Given the description of an element on the screen output the (x, y) to click on. 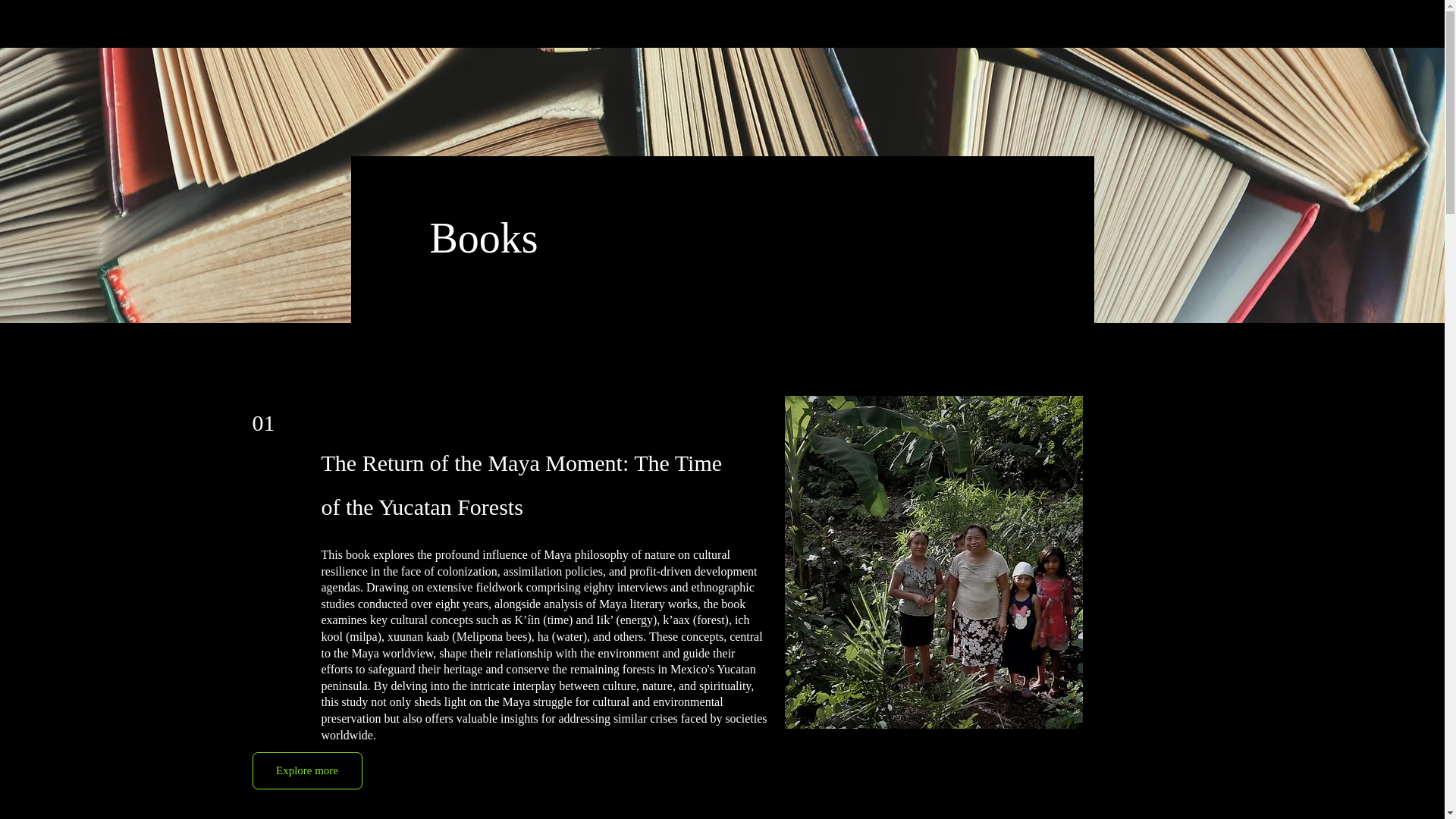
Explore more (306, 770)
